Given the description of an element on the screen output the (x, y) to click on. 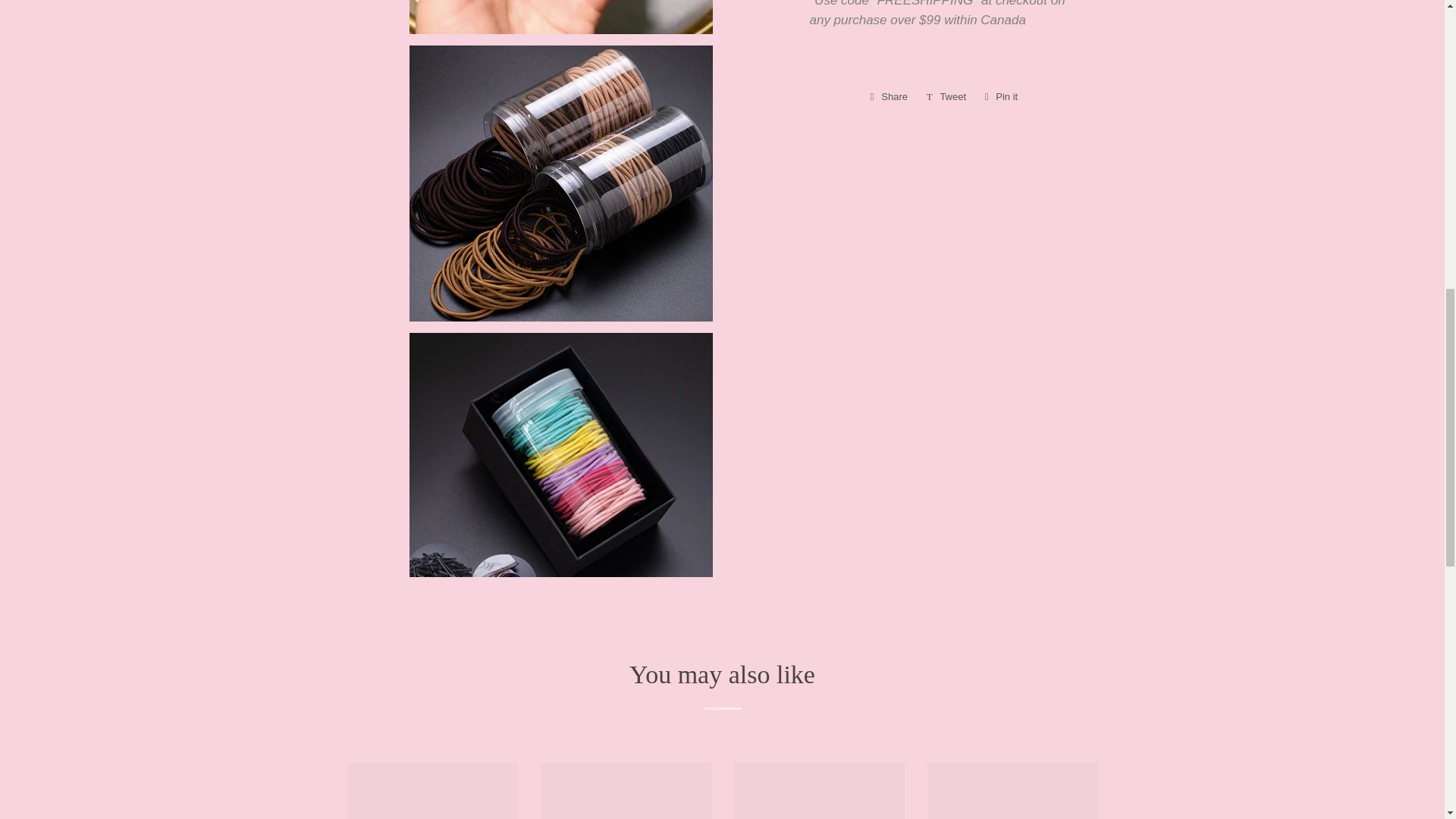
Pin on Pinterest (1000, 96)
Tweet on Twitter (1000, 96)
Share on Facebook (946, 96)
